Given the description of an element on the screen output the (x, y) to click on. 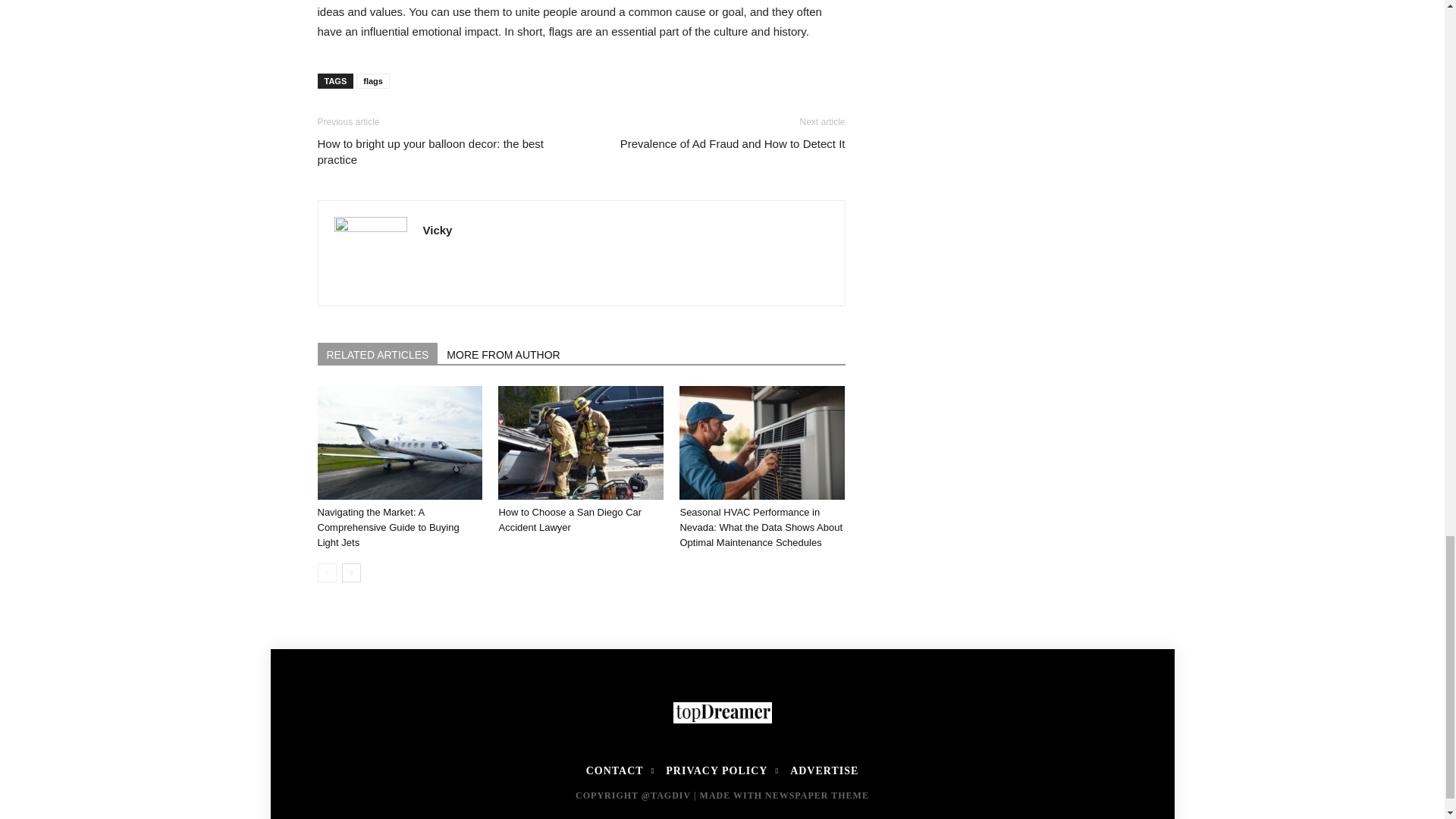
How to Choose a San Diego Car Accident Lawyer (580, 442)
How to Choose a San Diego Car Accident Lawyer (569, 519)
